Given the description of an element on the screen output the (x, y) to click on. 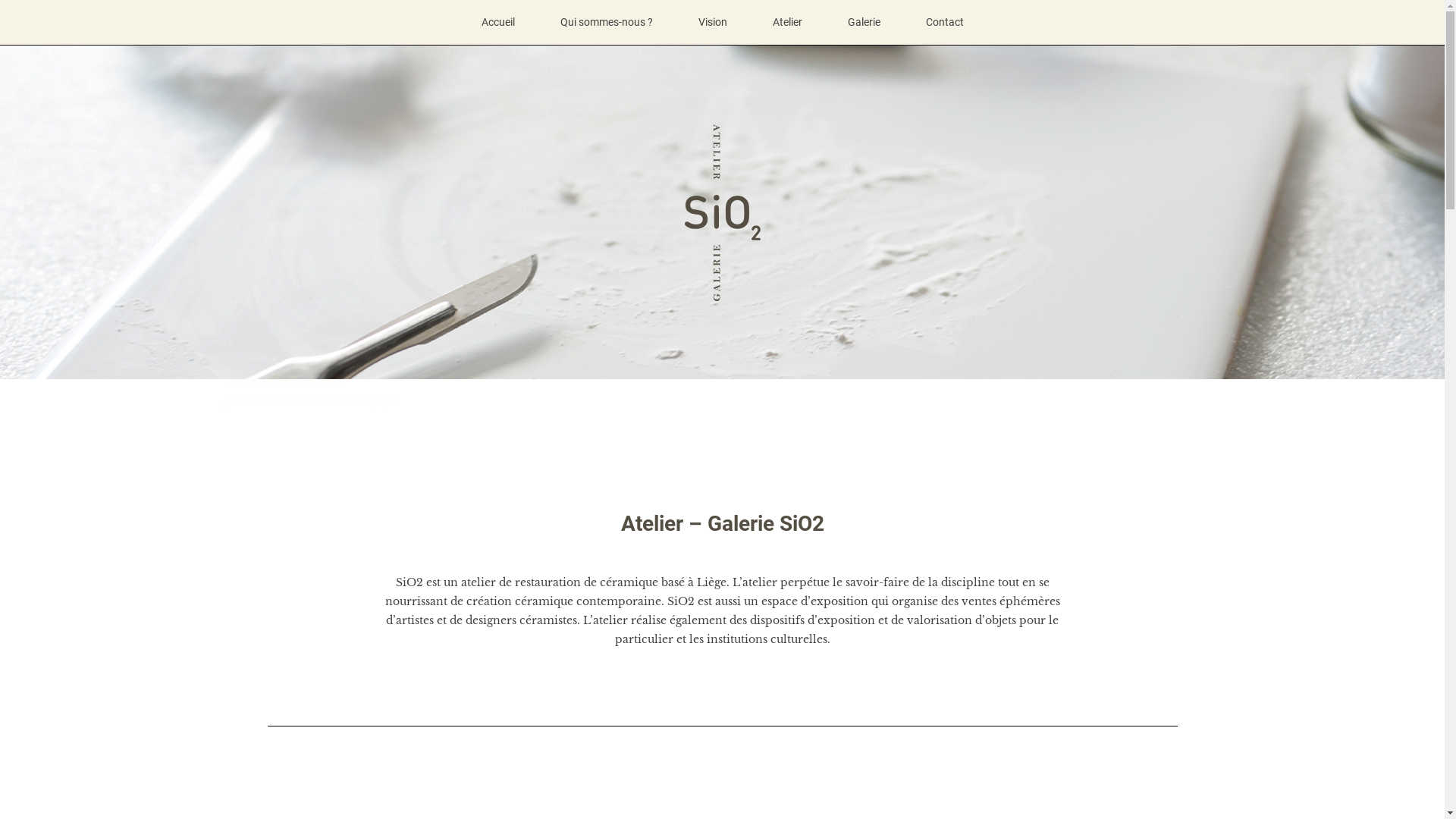
Atelier Element type: text (786, 22)
Galerie Element type: text (863, 22)
Contact Element type: text (944, 22)
Accueil Element type: text (497, 22)
Qui sommes-nous ? Element type: text (605, 22)
Vision Element type: text (711, 22)
Quels Casinos Ont La Roulette Au Belgique Element type: text (178, 66)
Jeu De Casino Internet Belgique Element type: text (311, 400)
Le Plus Ancien Casino De Bruges Element type: text (314, 344)
Liste Des Casinos Bruxelles Element type: text (136, 82)
